Given the description of an element on the screen output the (x, y) to click on. 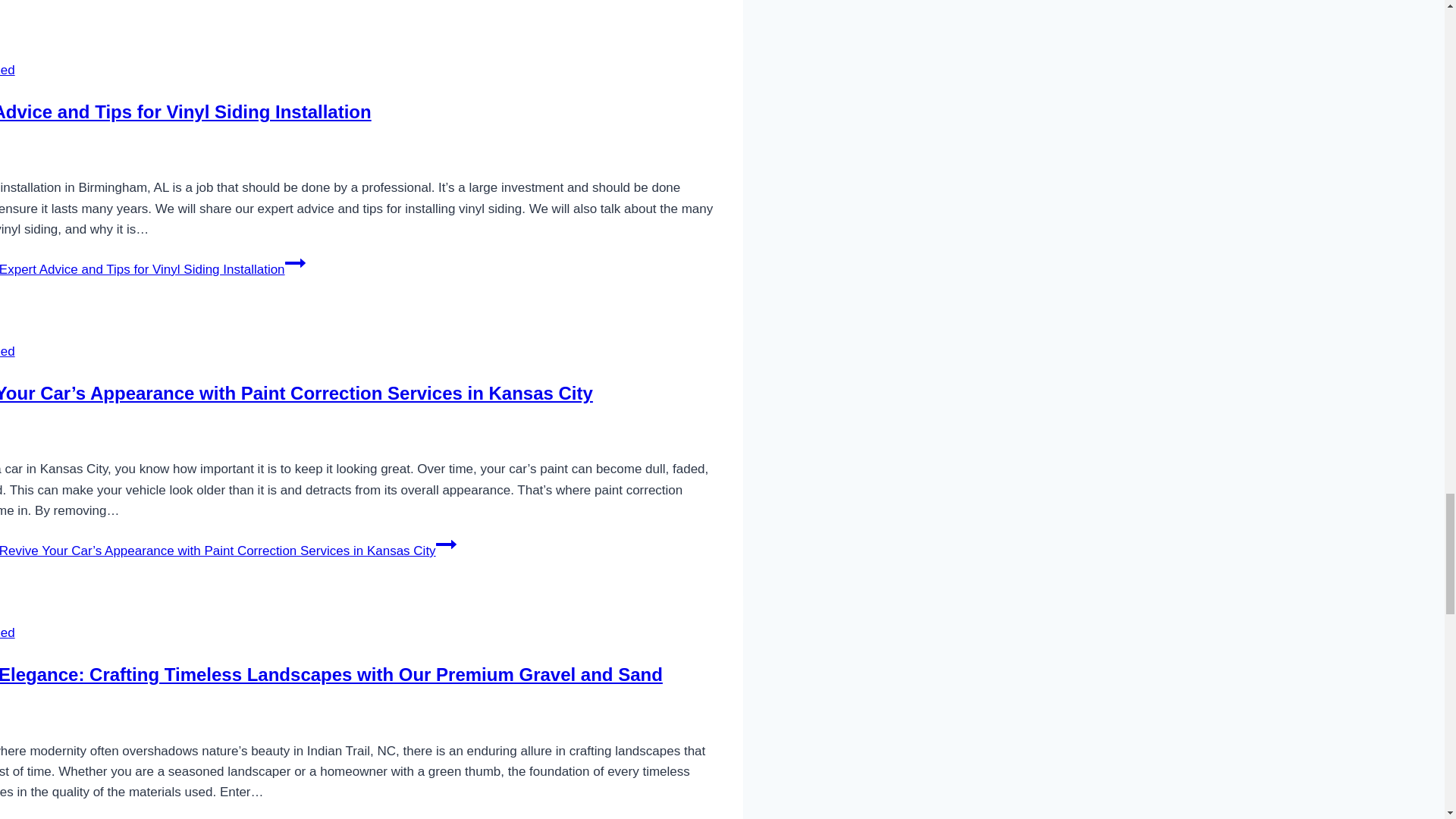
Expert Advice and Tips for Vinyl Siding Installation (185, 111)
Continue (446, 544)
Continue (493, 816)
Uncategorized (7, 632)
Continue (295, 262)
Uncategorized (7, 350)
Uncategorized (7, 69)
